Given the description of an element on the screen output the (x, y) to click on. 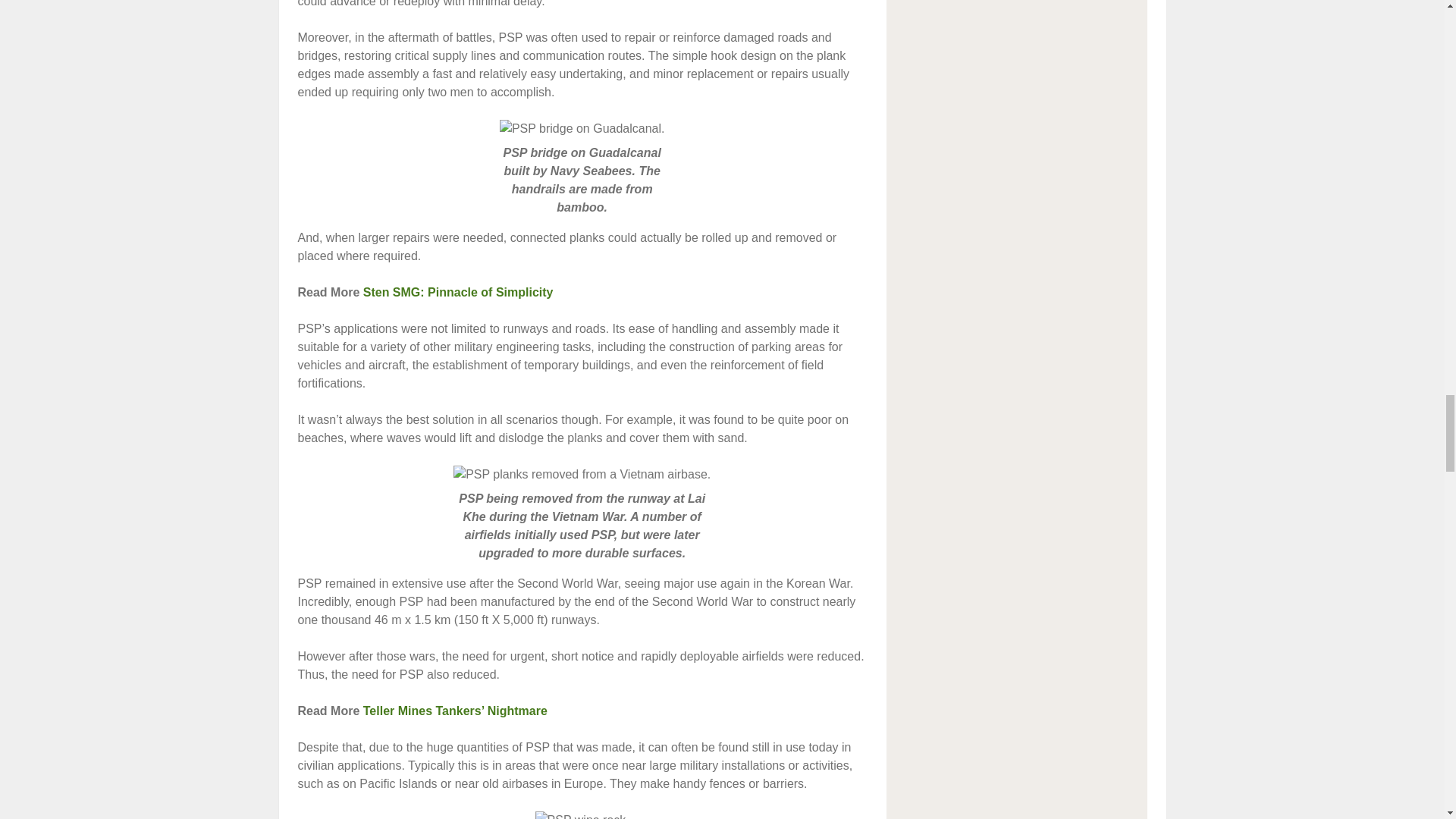
Sten SMG: Pinnacle of Simplicity (457, 291)
